Given the description of an element on the screen output the (x, y) to click on. 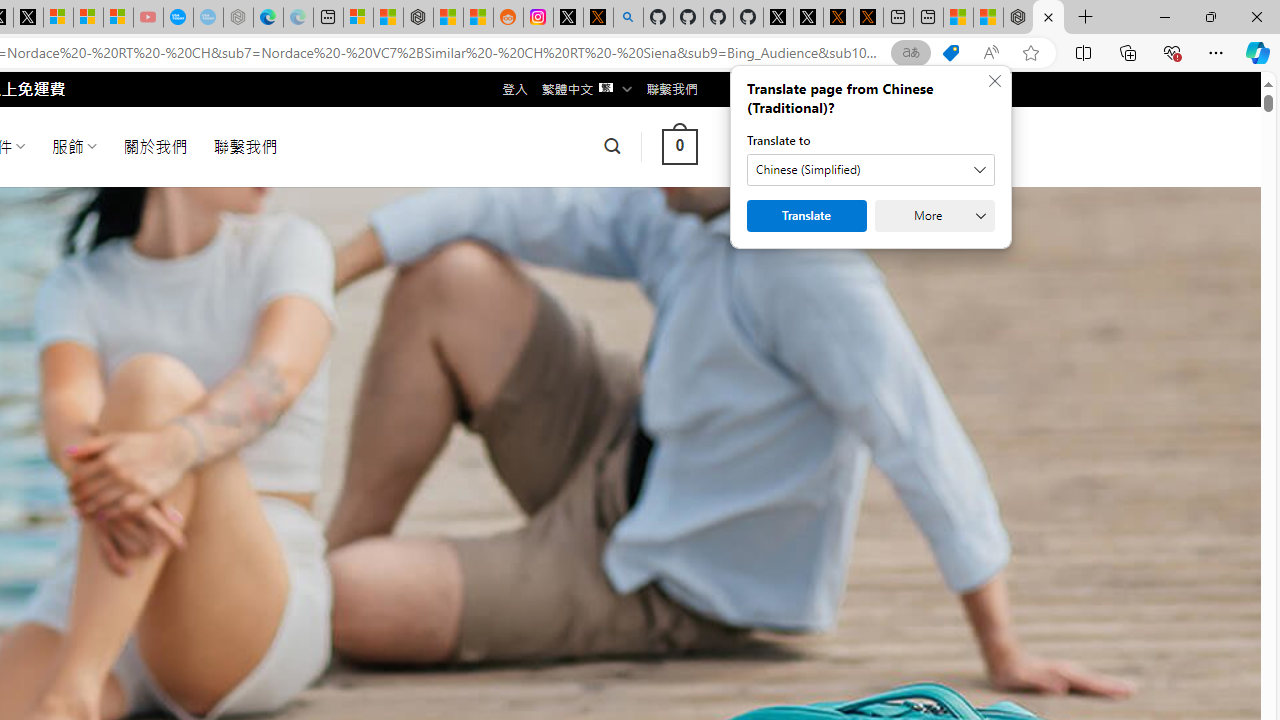
This site has coupons! Shopping in Microsoft Edge (950, 53)
Profile / X (778, 17)
X Privacy Policy (868, 17)
Nordace - Nordace has arrived Hong Kong - Sleeping (238, 17)
